Given the description of an element on the screen output the (x, y) to click on. 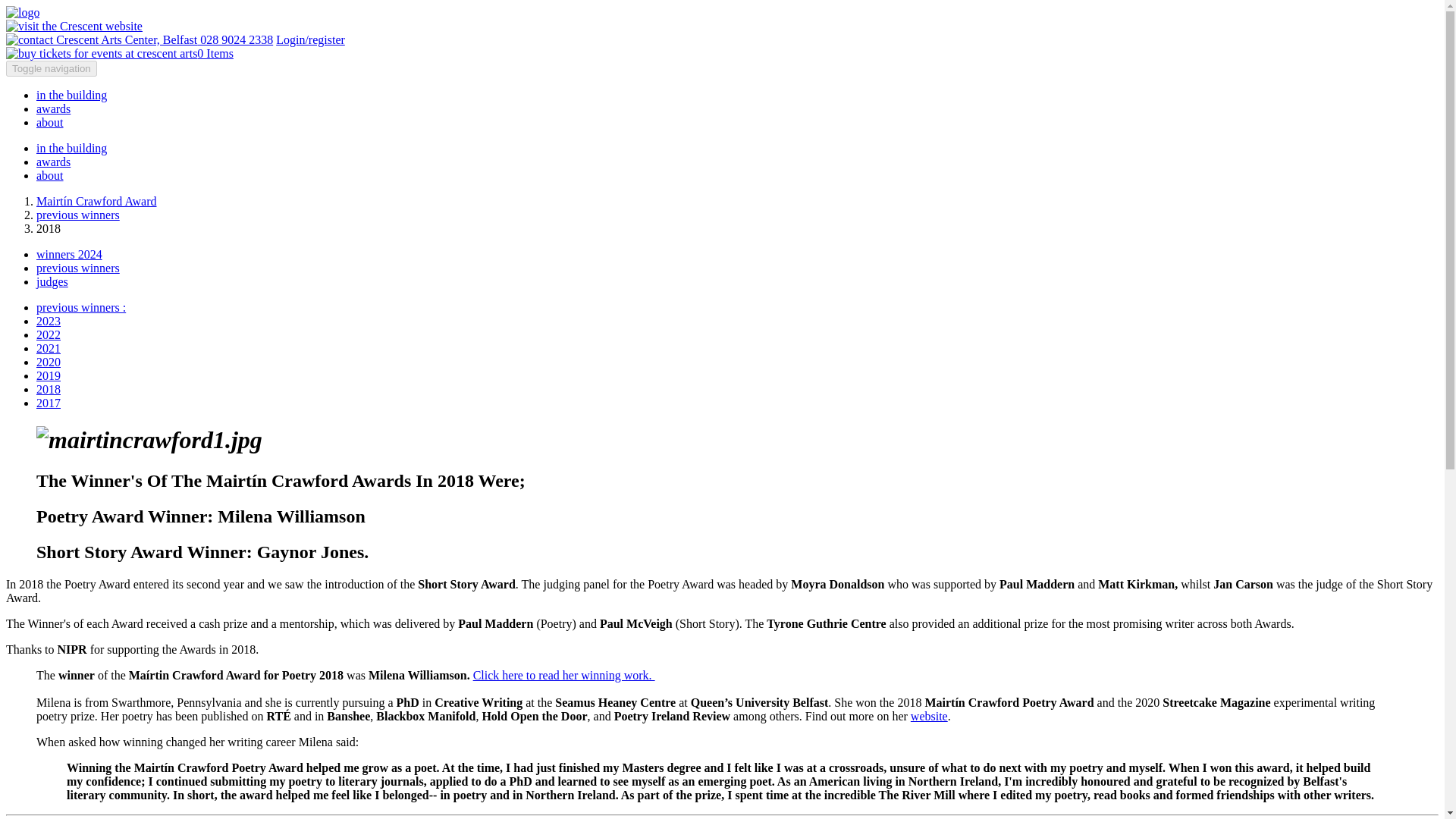
awards (52, 108)
Link to mairtin crawford award (52, 161)
2020 (48, 361)
2017 (48, 402)
028 9024 2338 (139, 39)
Link to in the building (71, 94)
Link to in the building (71, 147)
previous winners : (80, 307)
2021 (48, 348)
about (50, 122)
about (50, 174)
in the building (71, 147)
2018 (48, 389)
judges (52, 281)
2023 (48, 320)
